Given the description of an element on the screen output the (x, y) to click on. 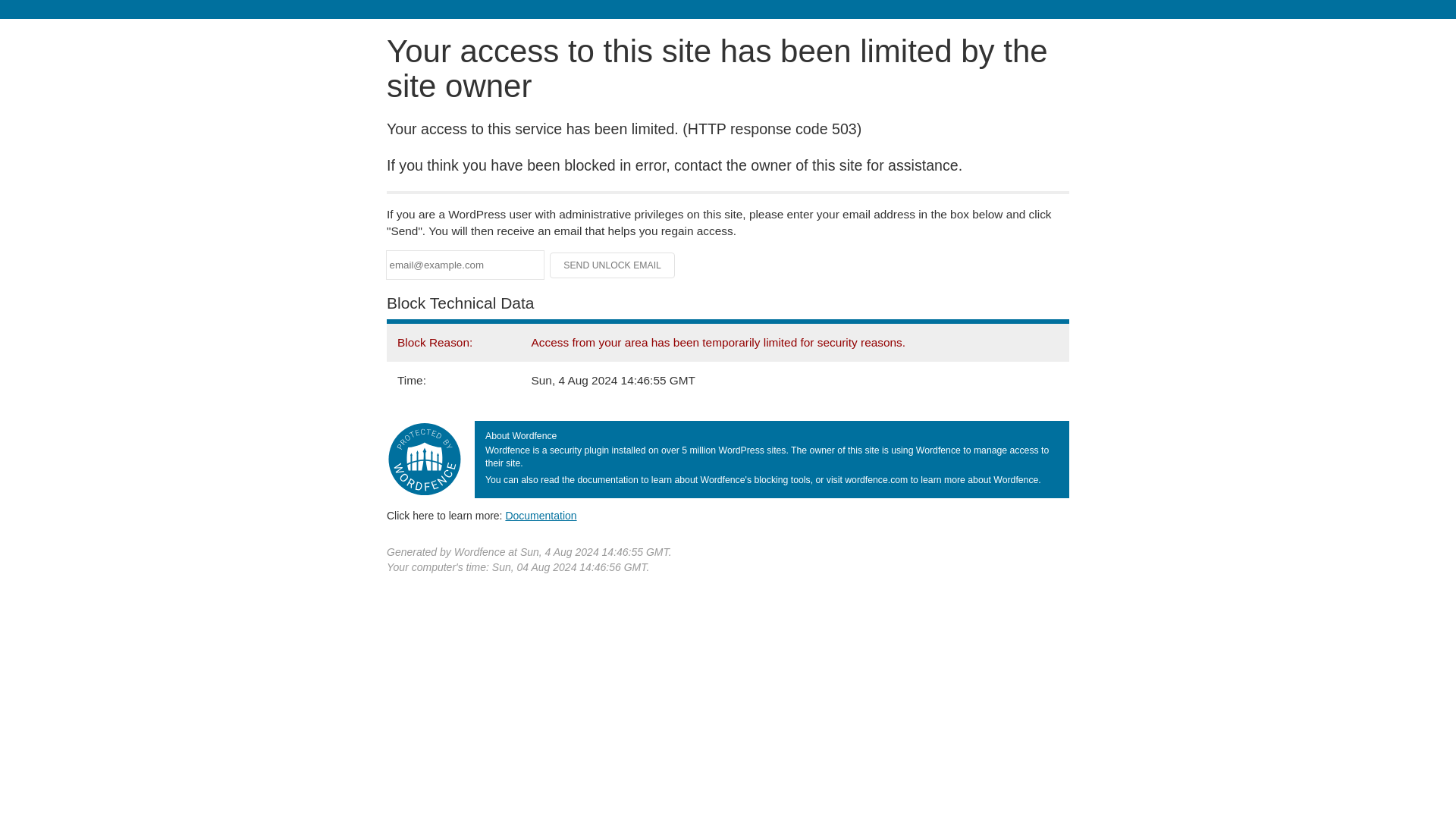
Send Unlock Email (612, 265)
Send Unlock Email (612, 265)
Documentation (540, 515)
